Given the description of an element on the screen output the (x, y) to click on. 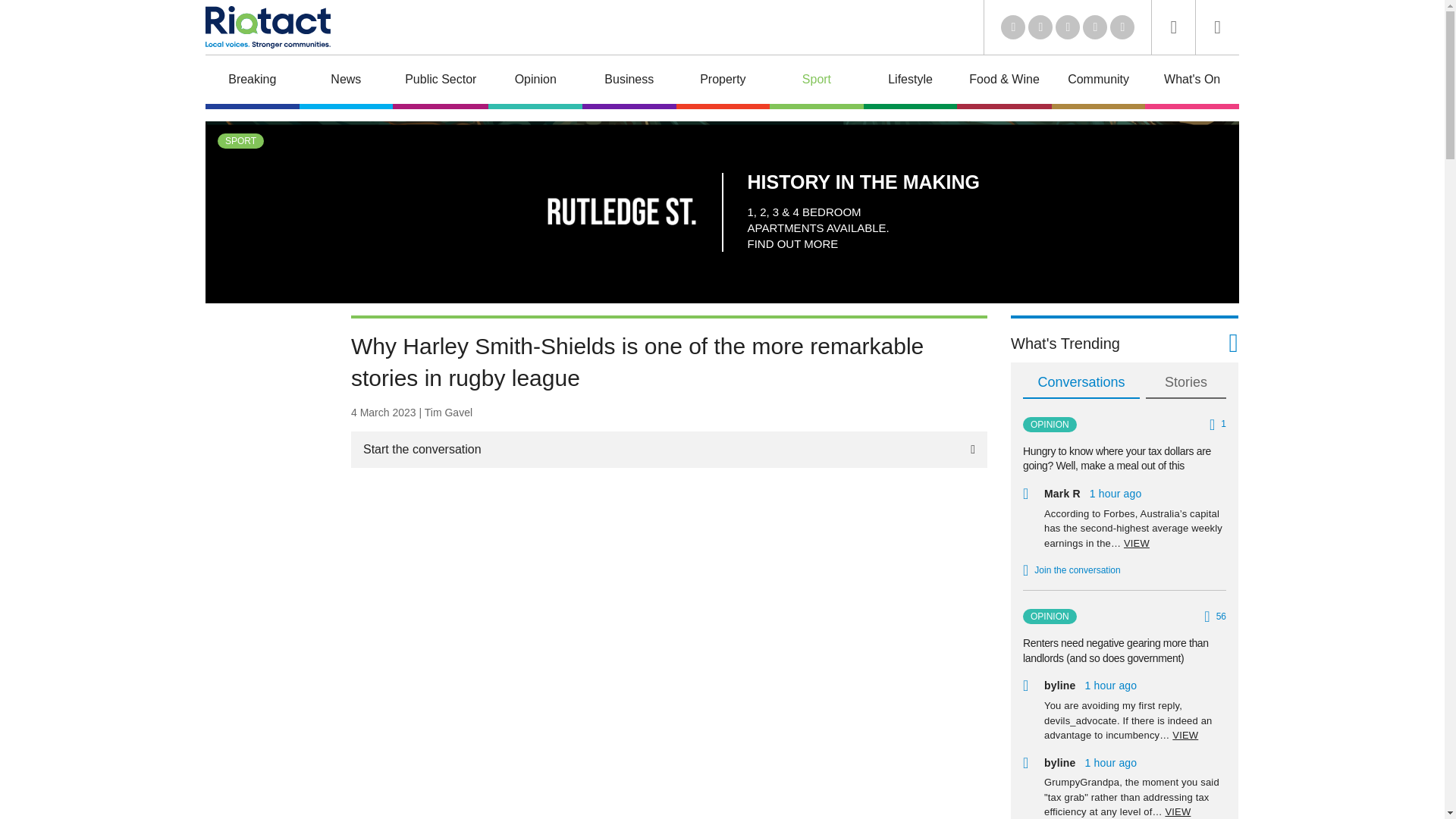
Youtube (1067, 27)
Instagram (1121, 27)
LinkedIn (1013, 27)
Breaking (252, 81)
Riotact Home (267, 26)
Facebook (1094, 27)
News (346, 81)
Twitter (1039, 27)
